Given the description of an element on the screen output the (x, y) to click on. 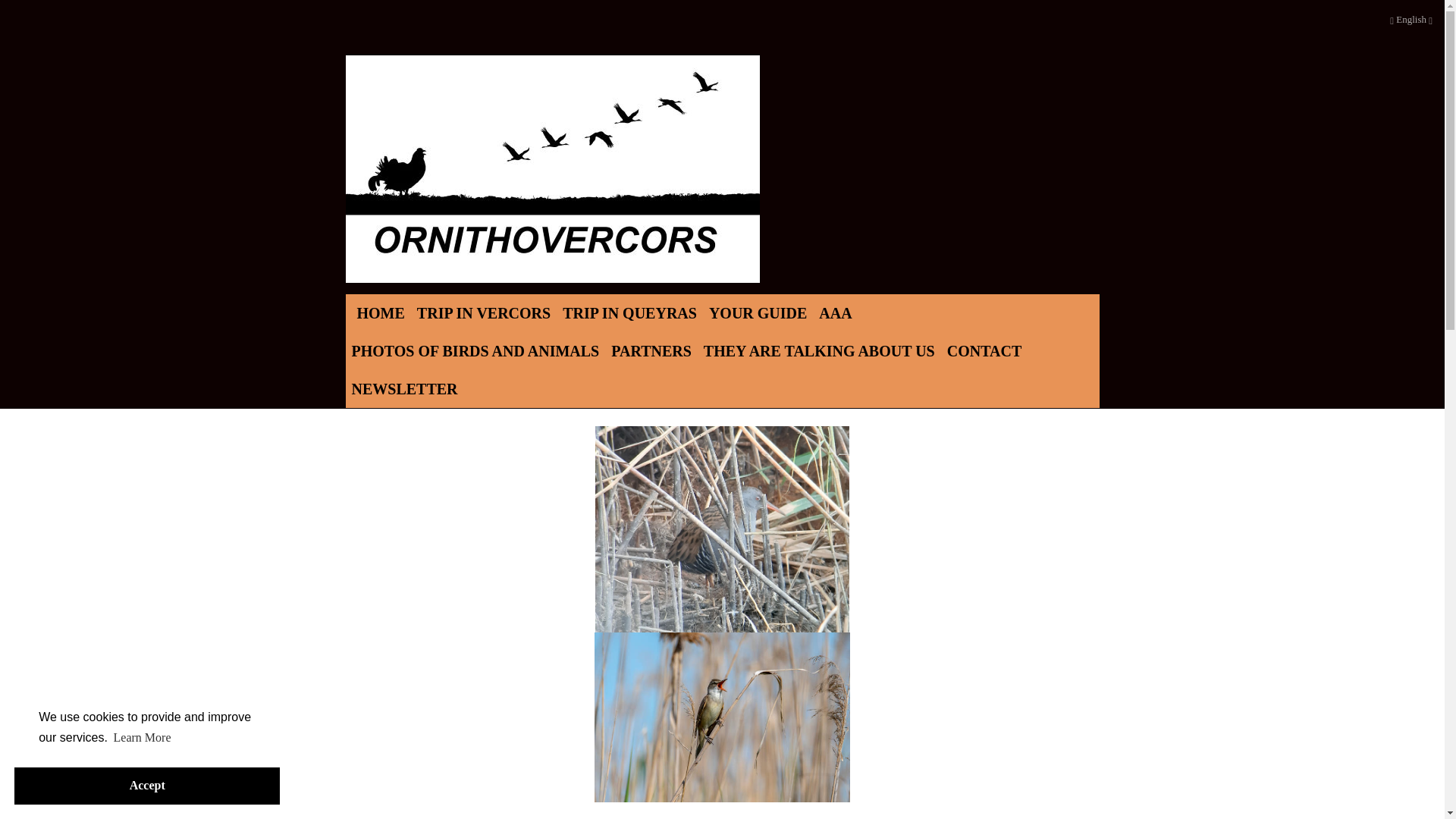
CONTACT (984, 350)
YOUR GUIDE (757, 313)
English (1411, 19)
Learn More (141, 737)
English (1410, 21)
TRIP IN VERCORS (483, 313)
TRIP IN VERCORS (483, 313)
HOME (380, 313)
HOME (380, 313)
Accept (146, 785)
